Given the description of an element on the screen output the (x, y) to click on. 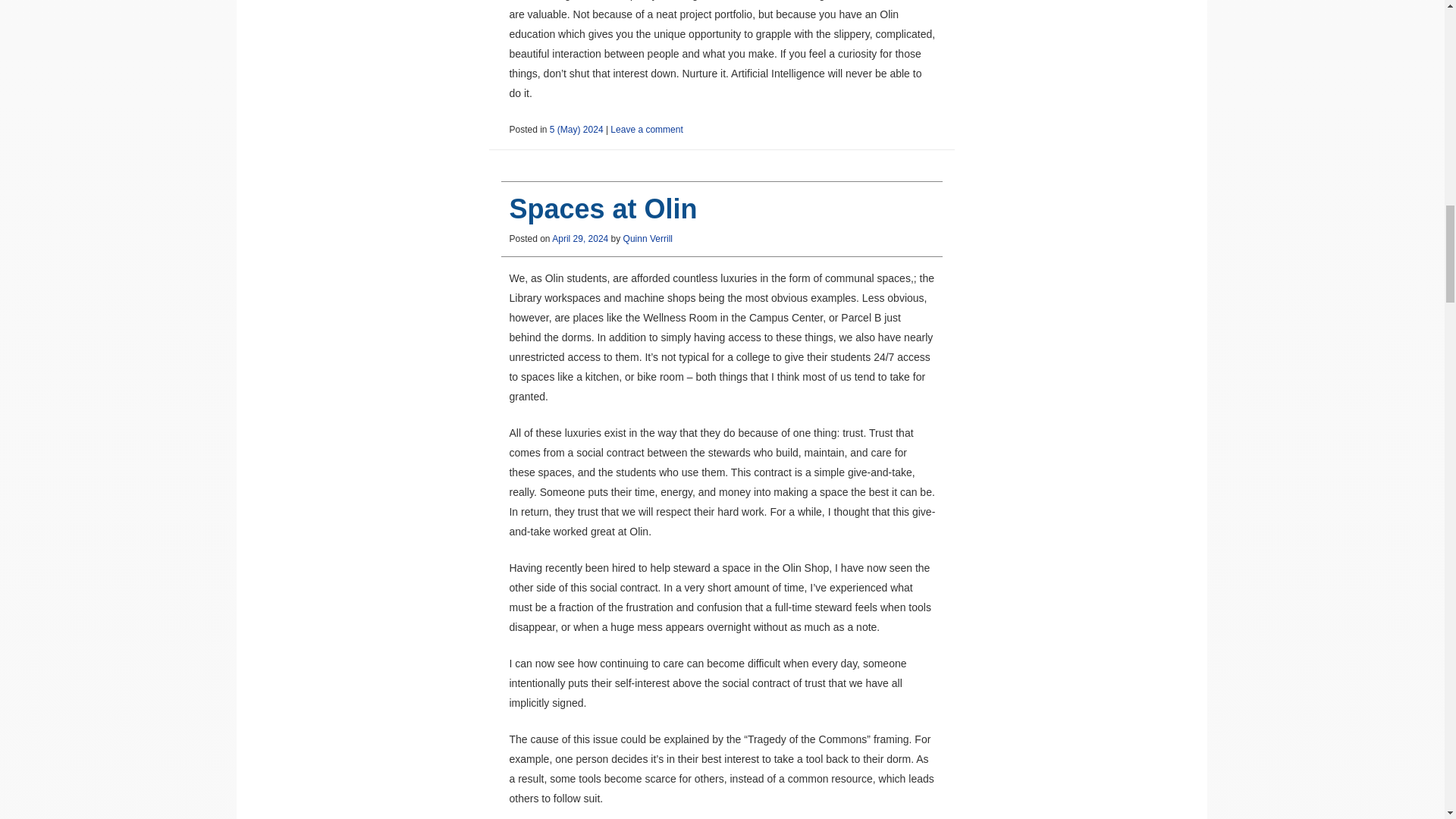
02:34 (579, 238)
Quinn Verrill (647, 238)
April 29, 2024 (579, 238)
View all posts by Quinn Verrill (647, 238)
Spaces at Olin (602, 208)
Leave a comment (646, 129)
